Given the description of an element on the screen output the (x, y) to click on. 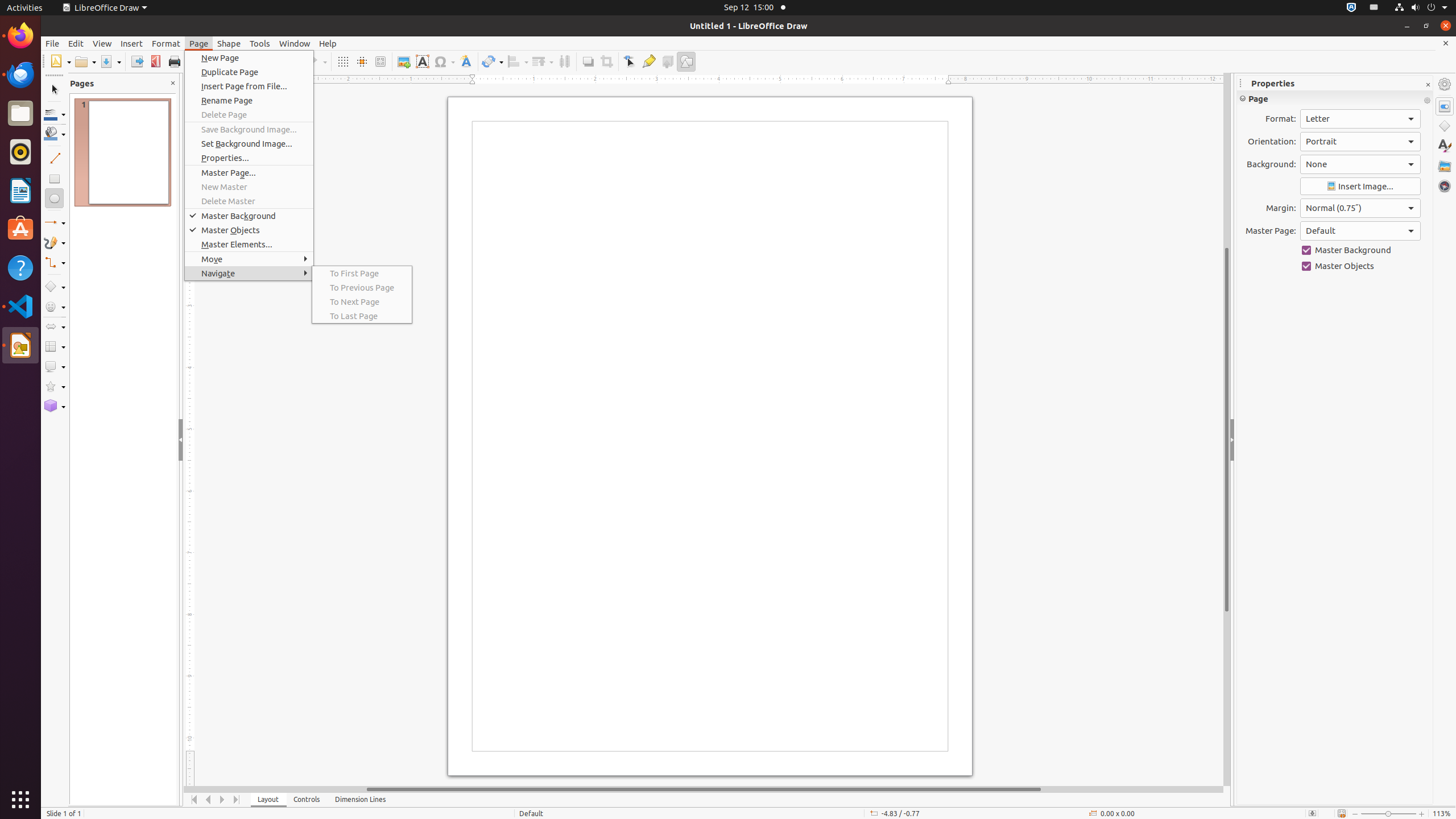
Save Background Image... Element type: menu-item (248, 129)
Properties... Element type: menu-item (248, 157)
Insert Element type: menu (131, 43)
More Options Element type: push-button (1426, 100)
Files Element type: push-button (20, 113)
